Given the description of an element on the screen output the (x, y) to click on. 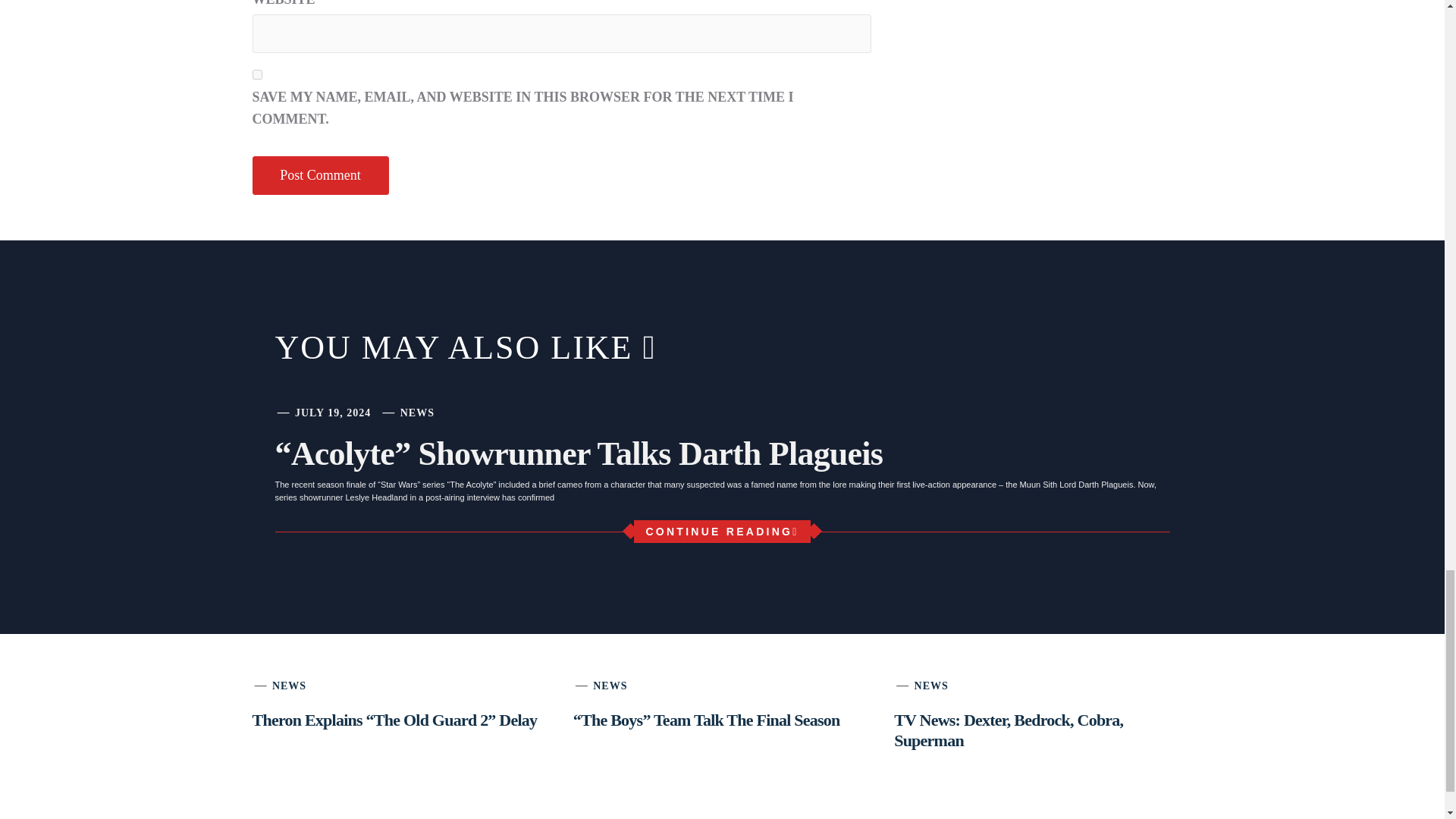
NEWS (416, 412)
Post Comment (319, 175)
JULY 19, 2024 (333, 412)
CONTINUE READING (721, 531)
Post Comment (319, 175)
yes (256, 74)
